Given the description of an element on the screen output the (x, y) to click on. 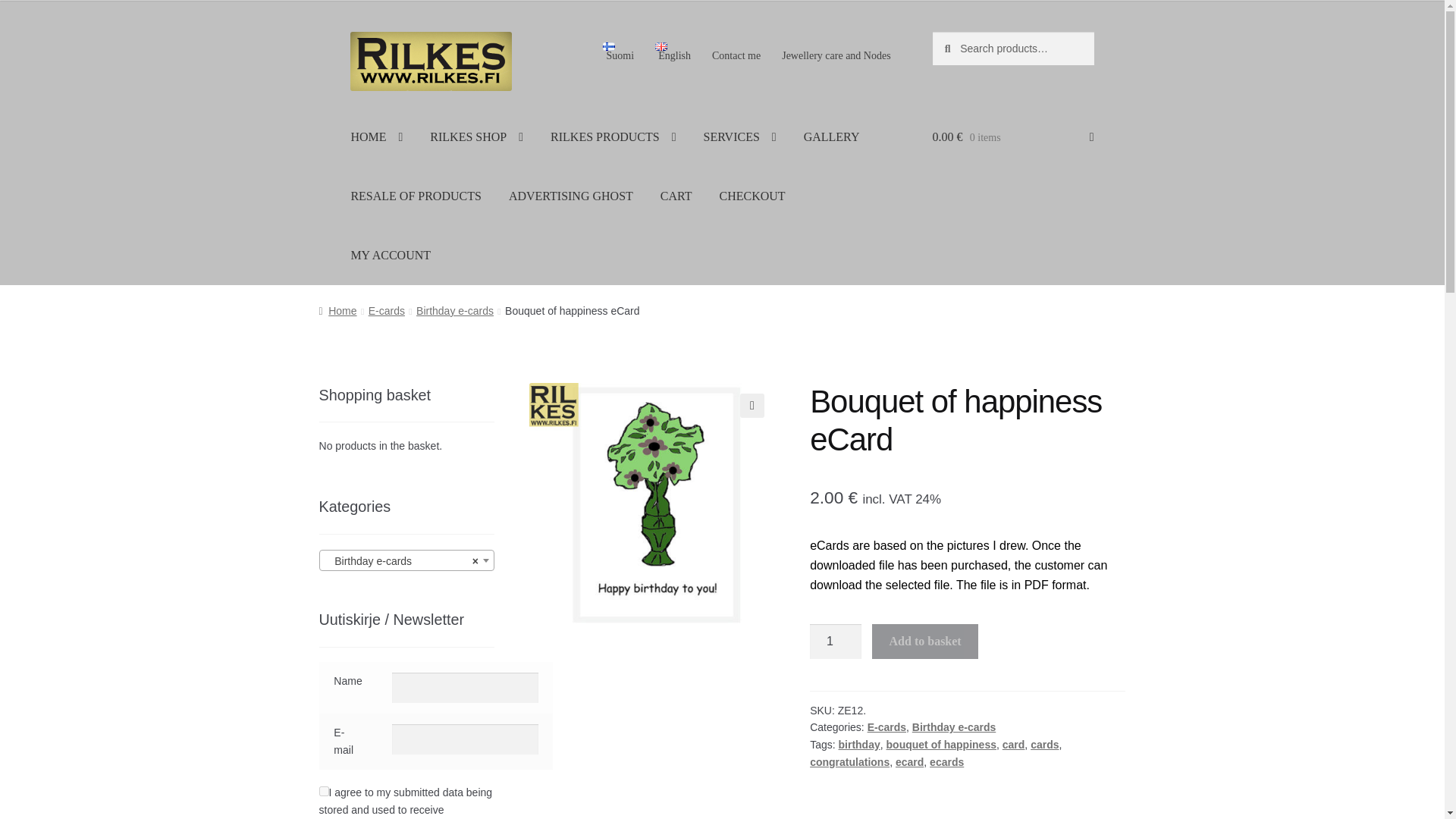
RILKES PRODUCTS (612, 137)
View your shopping basket (1013, 137)
ZE12. kimppu onnea eng (651, 505)
Jewellery care and Nodes (836, 56)
English (673, 51)
1 (835, 641)
SERVICES (740, 137)
RILKES SHOP (476, 137)
Contact me (736, 56)
yes (323, 791)
Suomi (618, 51)
HOME (375, 137)
